Given the description of an element on the screen output the (x, y) to click on. 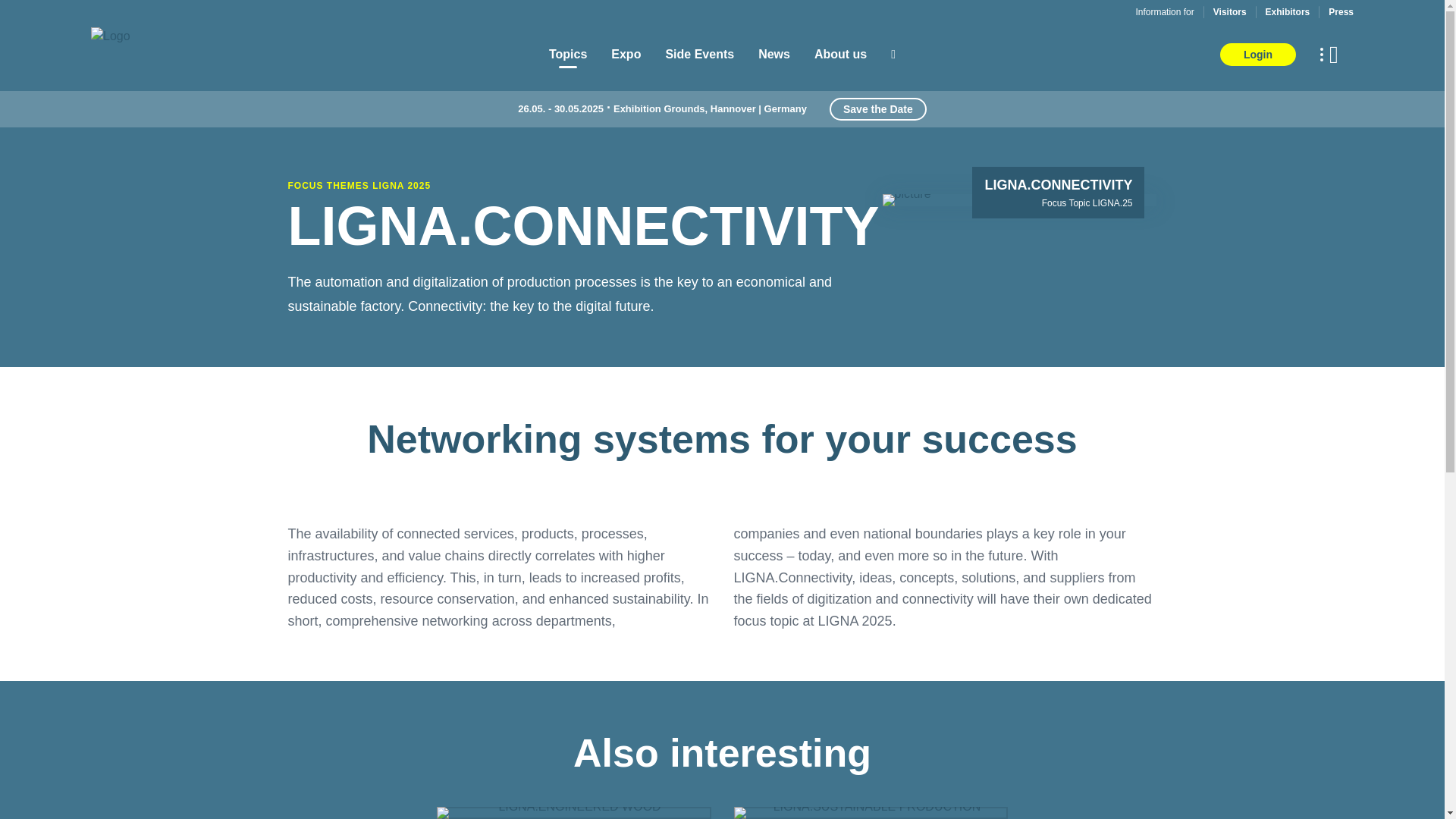
News (774, 54)
Login (1257, 54)
Press (1340, 11)
About us (839, 54)
Expo (625, 54)
Side Events (699, 54)
Exhibitors (1287, 11)
Visitors (1229, 11)
Save the Date (877, 108)
